Given the description of an element on the screen output the (x, y) to click on. 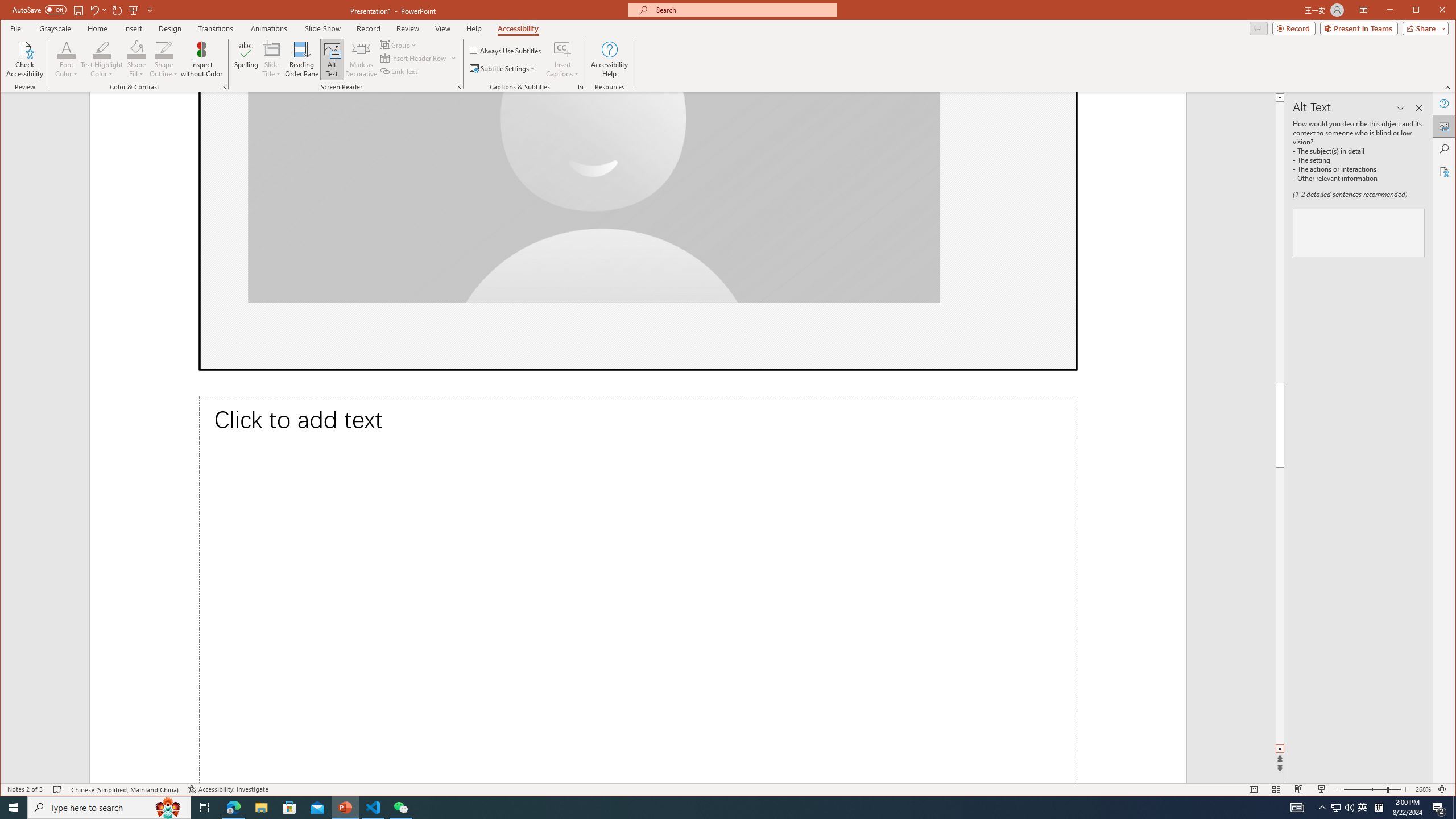
Group (399, 44)
Subtitle Settings (502, 68)
